Given the description of an element on the screen output the (x, y) to click on. 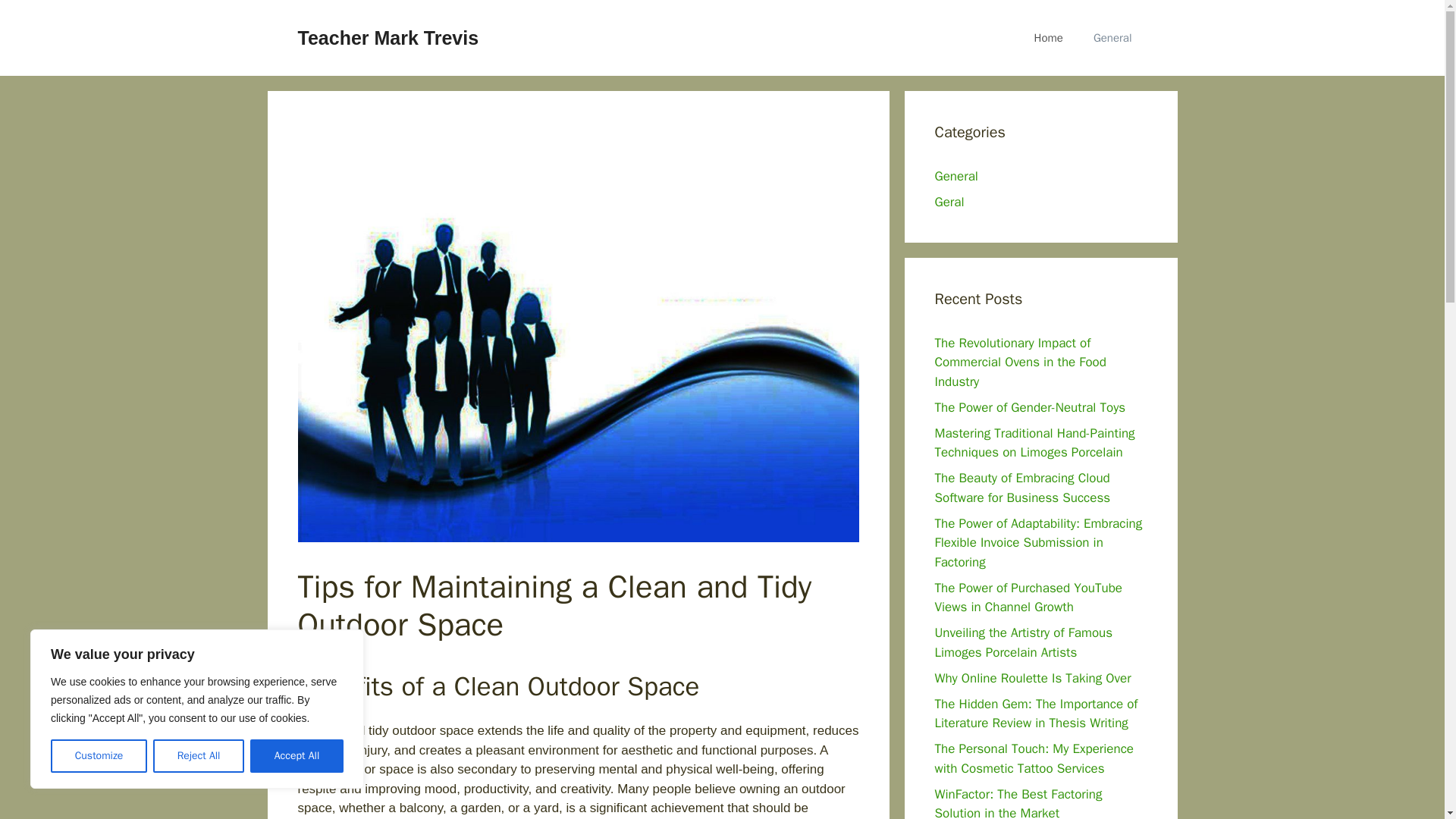
The Power of Gender-Neutral Toys (1029, 406)
Accept All (296, 756)
Customize (98, 756)
Geral (948, 201)
General (1112, 37)
The Beauty of Embracing Cloud Software for Business Success (1021, 488)
Teacher Mark Trevis (388, 37)
General (955, 176)
Reject All (198, 756)
Home (1048, 37)
